Given the description of an element on the screen output the (x, y) to click on. 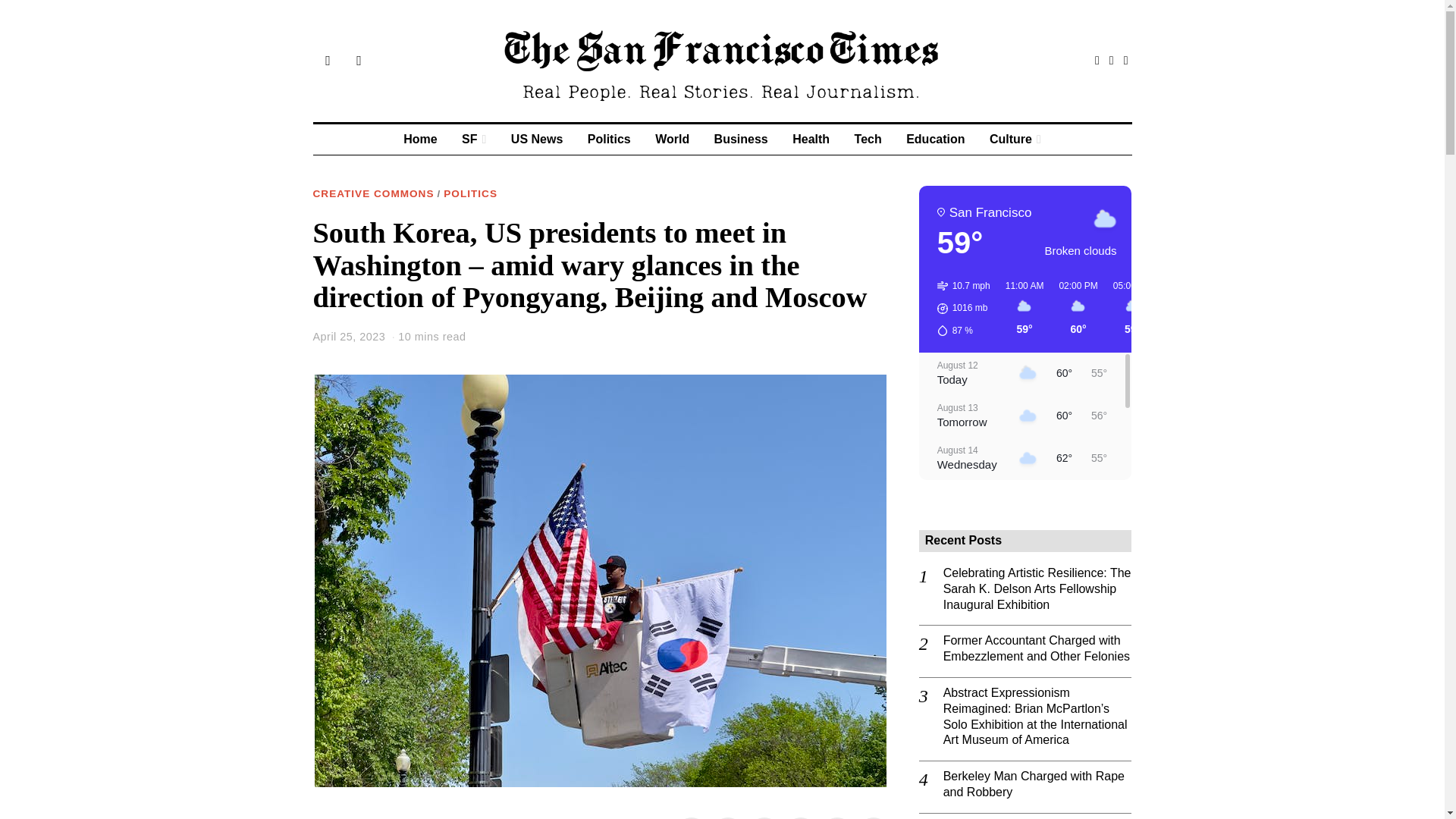
Tech (868, 139)
US News (536, 139)
Home (419, 139)
World (672, 139)
CREATIVE COMMONS (373, 194)
SF (473, 139)
Politics (609, 139)
Culture (1014, 139)
POLITICS (470, 194)
Business (740, 139)
